Given the description of an element on the screen output the (x, y) to click on. 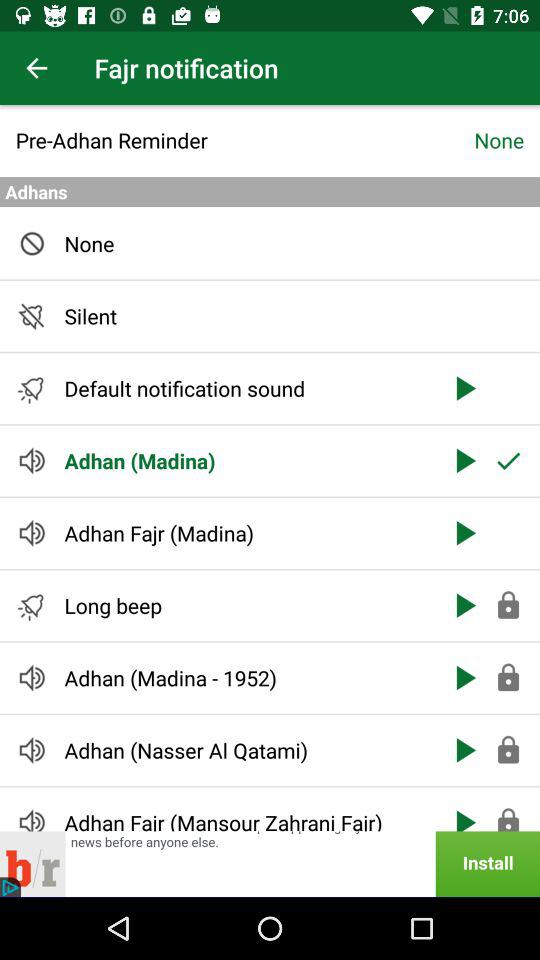
swipe to the long beep (245, 605)
